Given the description of an element on the screen output the (x, y) to click on. 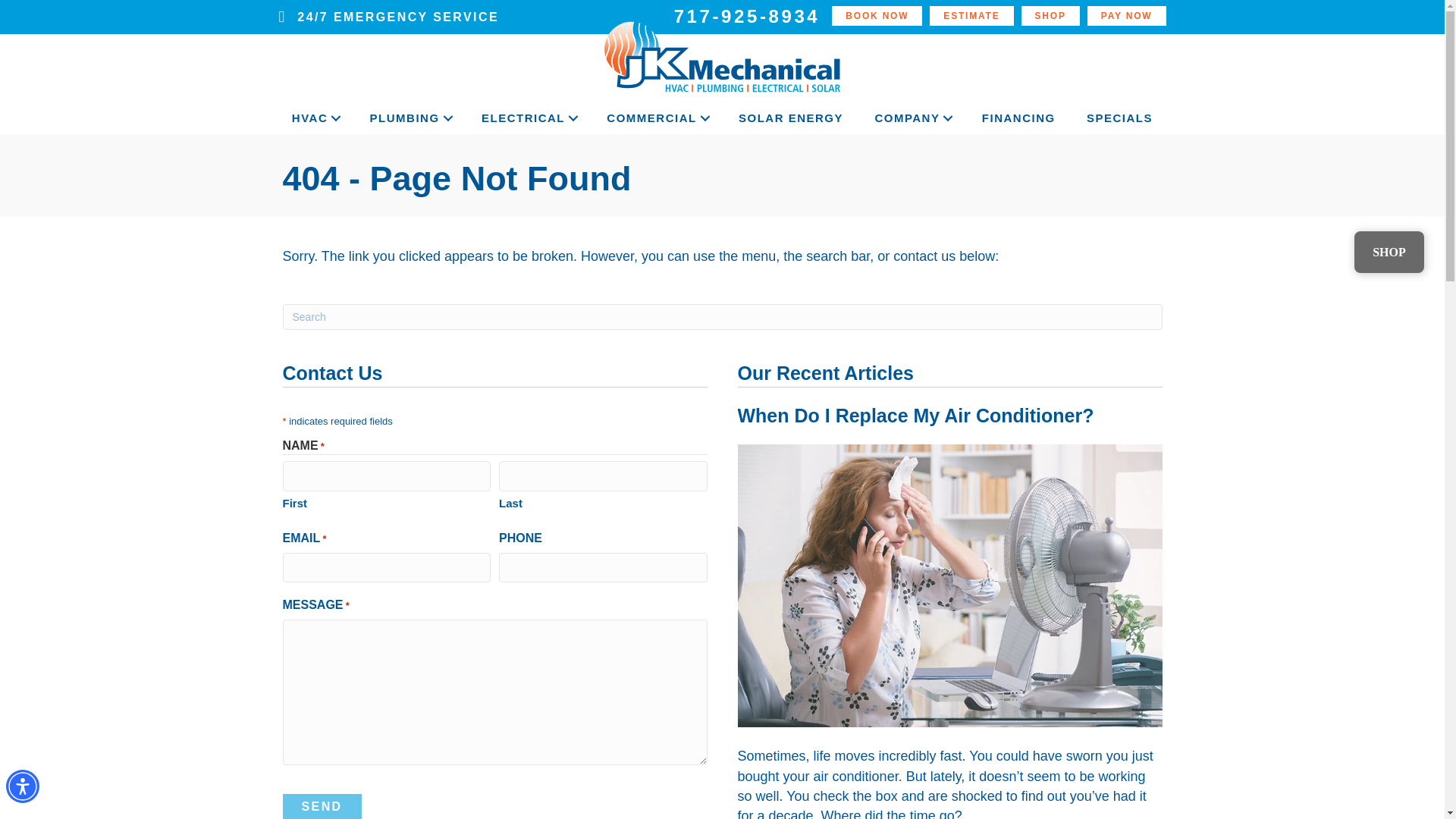
SHOP (1051, 15)
PLUMBING (410, 118)
HVAC (314, 118)
PAY NOW (1126, 15)
Send (321, 806)
BOOK NOW (876, 15)
717-925-8934 (747, 16)
Type and press Enter to search. (721, 316)
Accessibility Menu (22, 786)
ESTIMATE (971, 15)
